Given the description of an element on the screen output the (x, y) to click on. 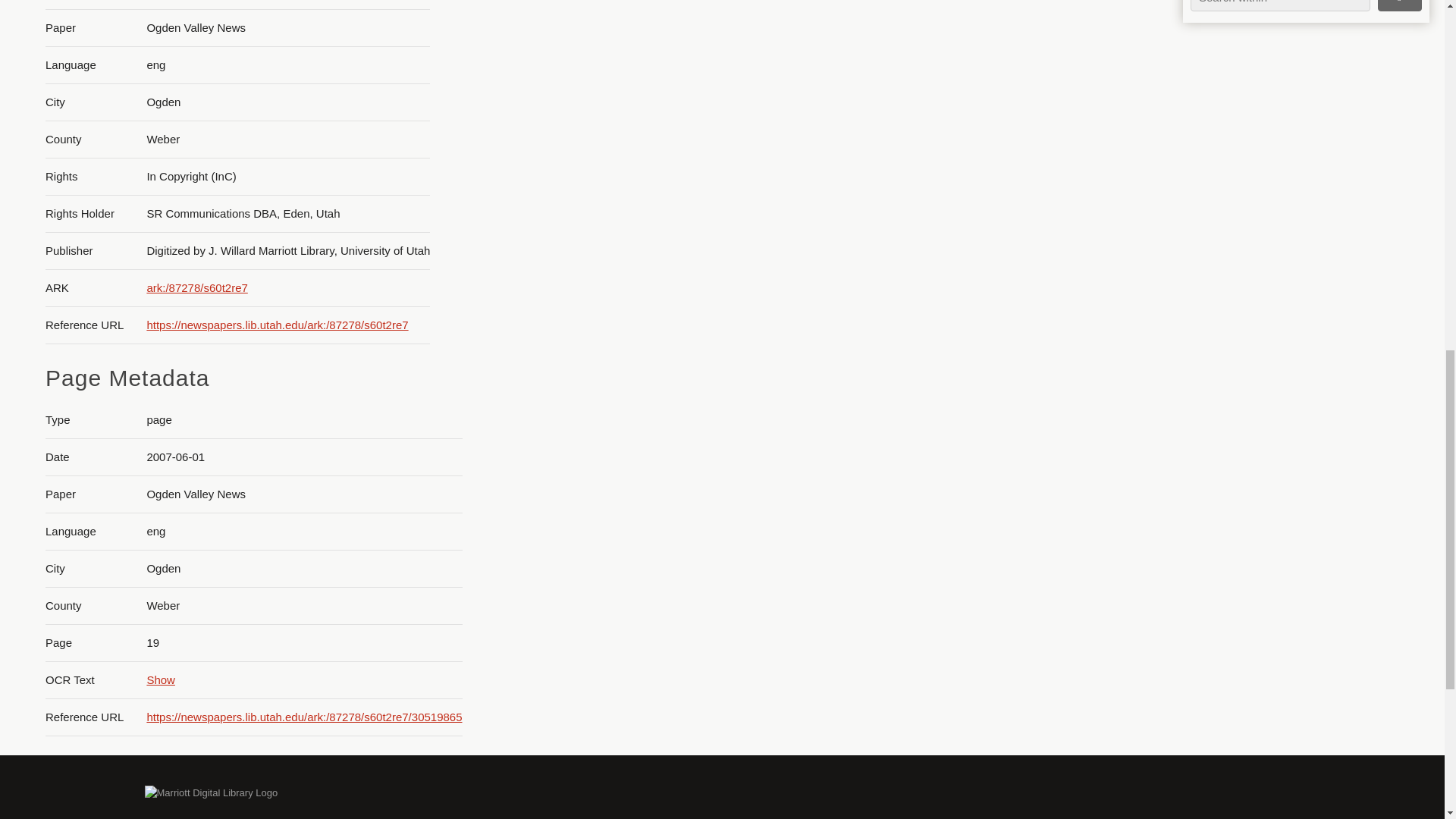
Page 14 (1299, 722)
Page 9 (1299, 226)
Page 10 (1299, 315)
Page 12 (1299, 593)
Page 6 (1299, 13)
Page 7 (1299, 97)
Page 8 (1299, 186)
Page 11 (1299, 454)
Page 16 (1299, 800)
Page 15 (1299, 762)
